Given the description of an element on the screen output the (x, y) to click on. 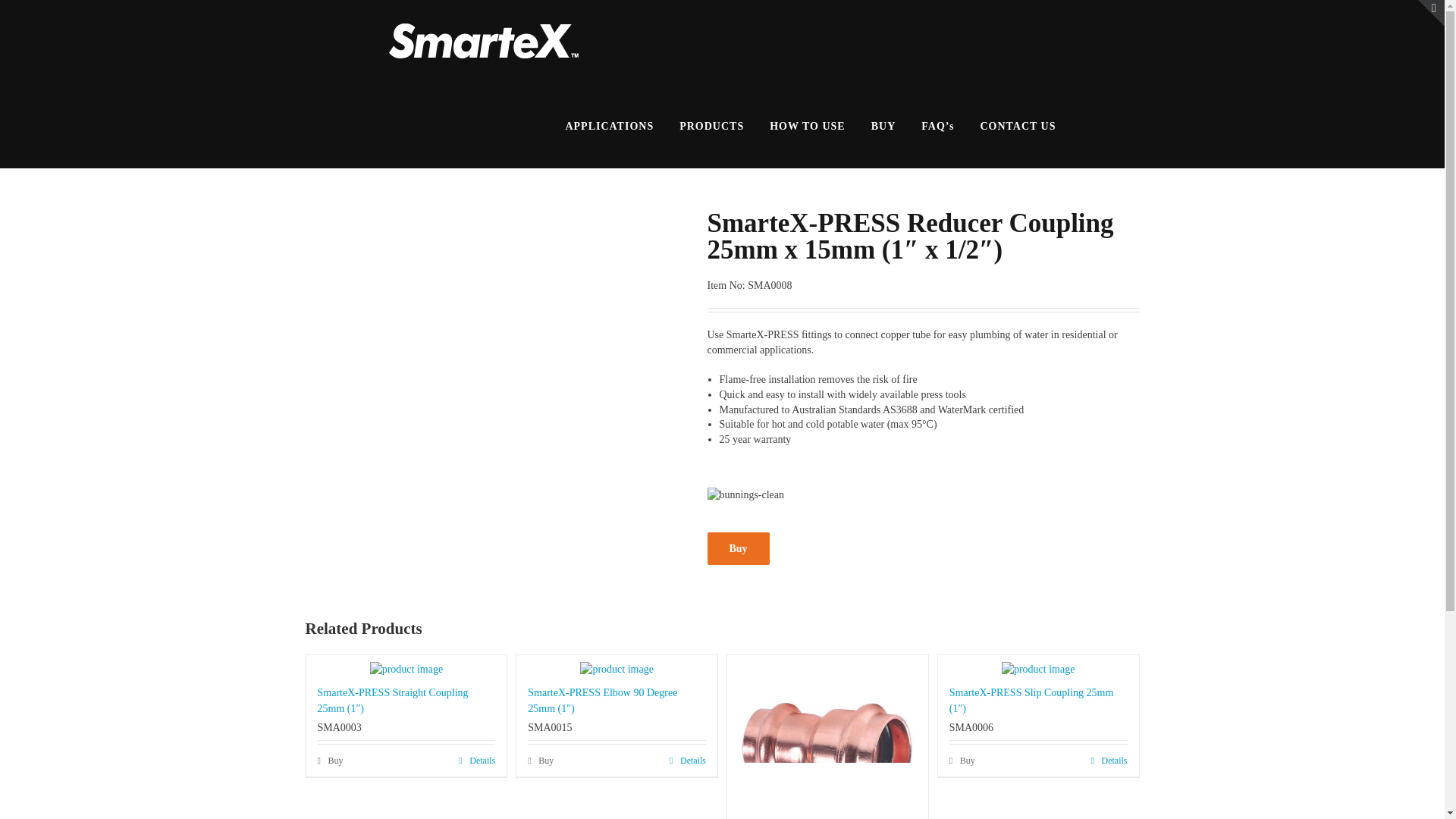
APPLICATIONS (608, 124)
Buy (737, 548)
Buy (962, 760)
Details (476, 760)
Buy (540, 760)
Details (687, 760)
Buy (329, 760)
Details (1108, 760)
